Given the description of an element on the screen output the (x, y) to click on. 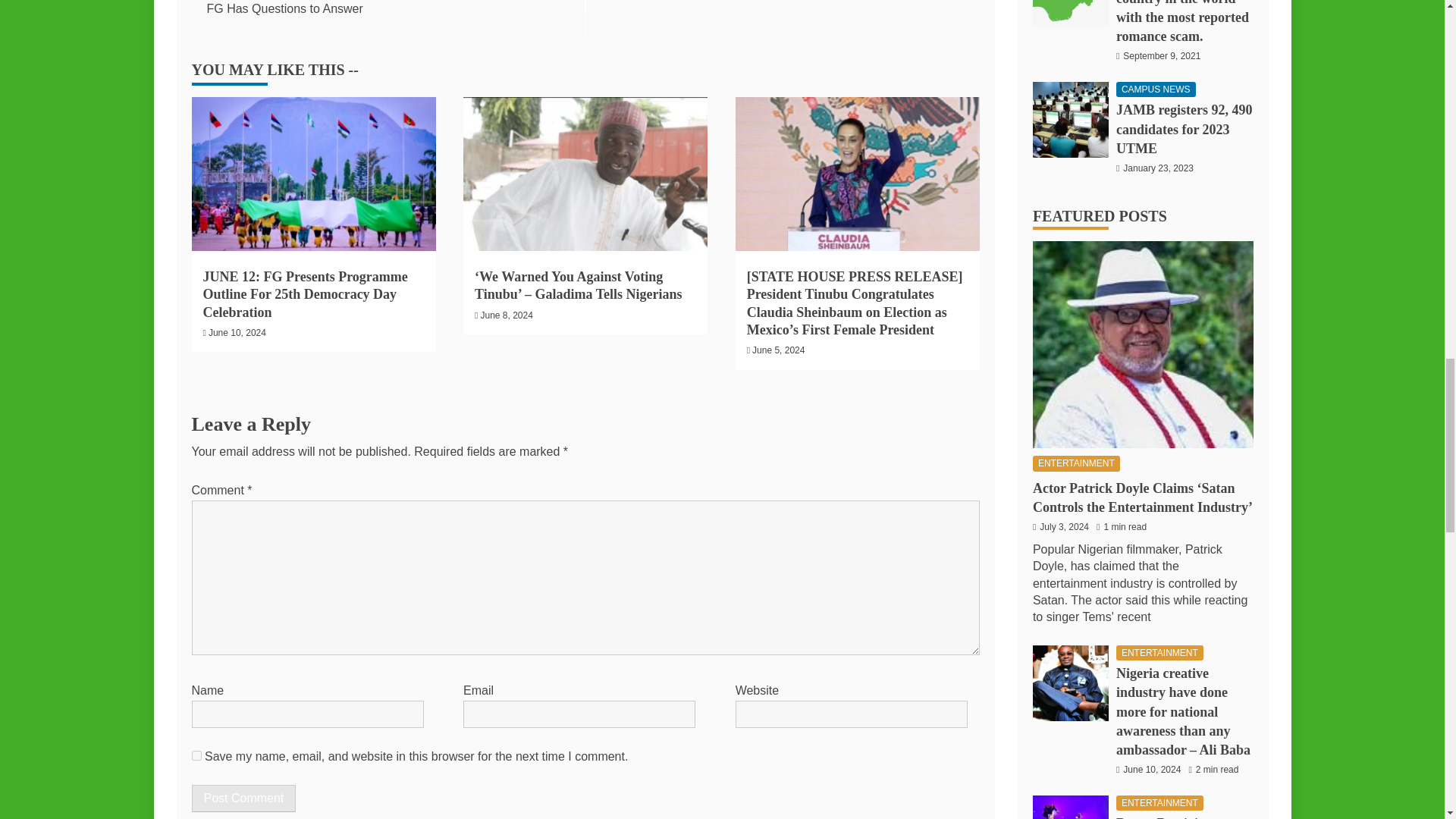
Post Comment (242, 798)
yes (195, 755)
